Given the description of an element on the screen output the (x, y) to click on. 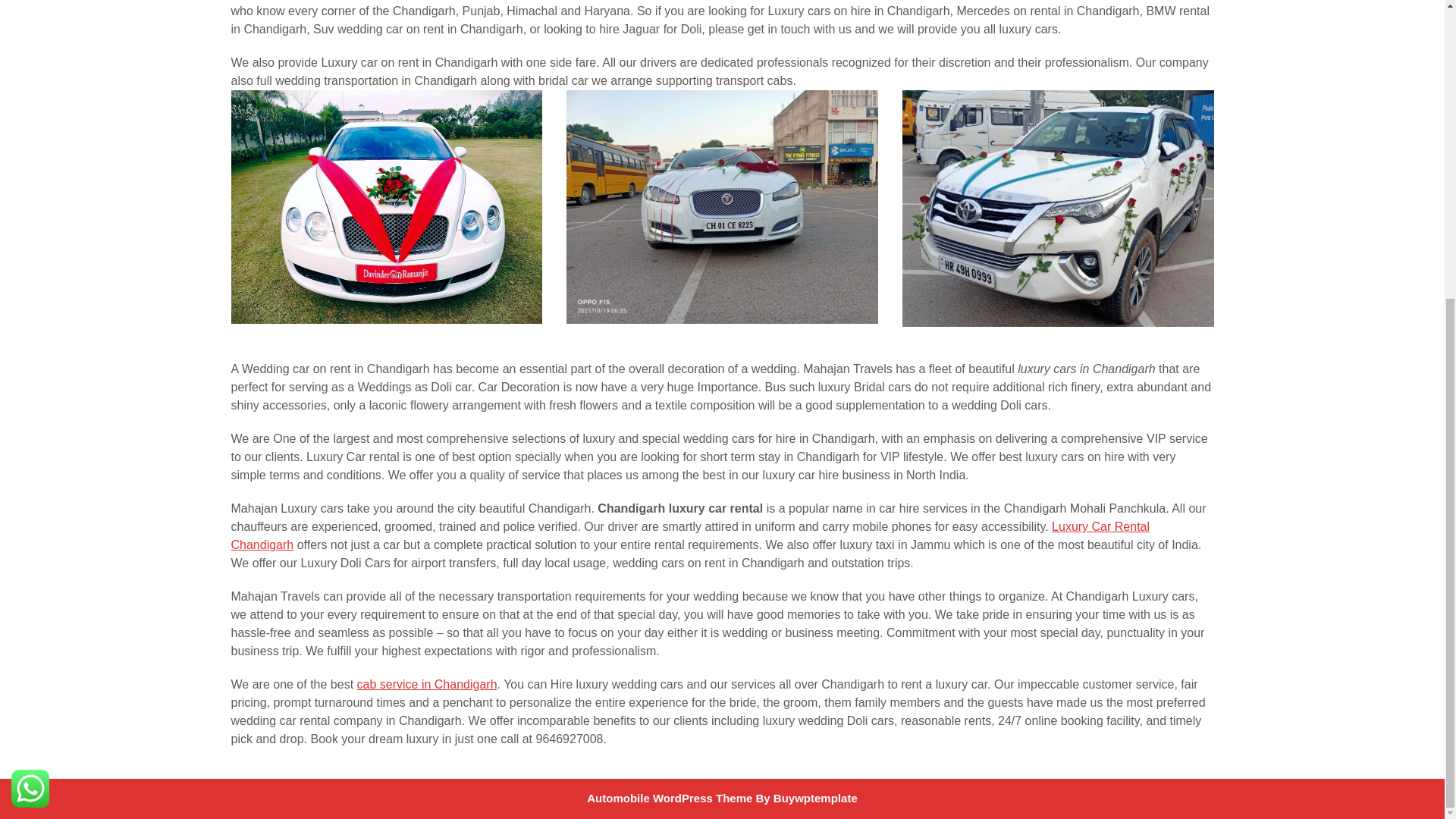
Luxury Car Rental Chandigarh (690, 535)
cab service in Chandigarh (426, 684)
Automobile WordPress Theme (669, 797)
